Given the description of an element on the screen output the (x, y) to click on. 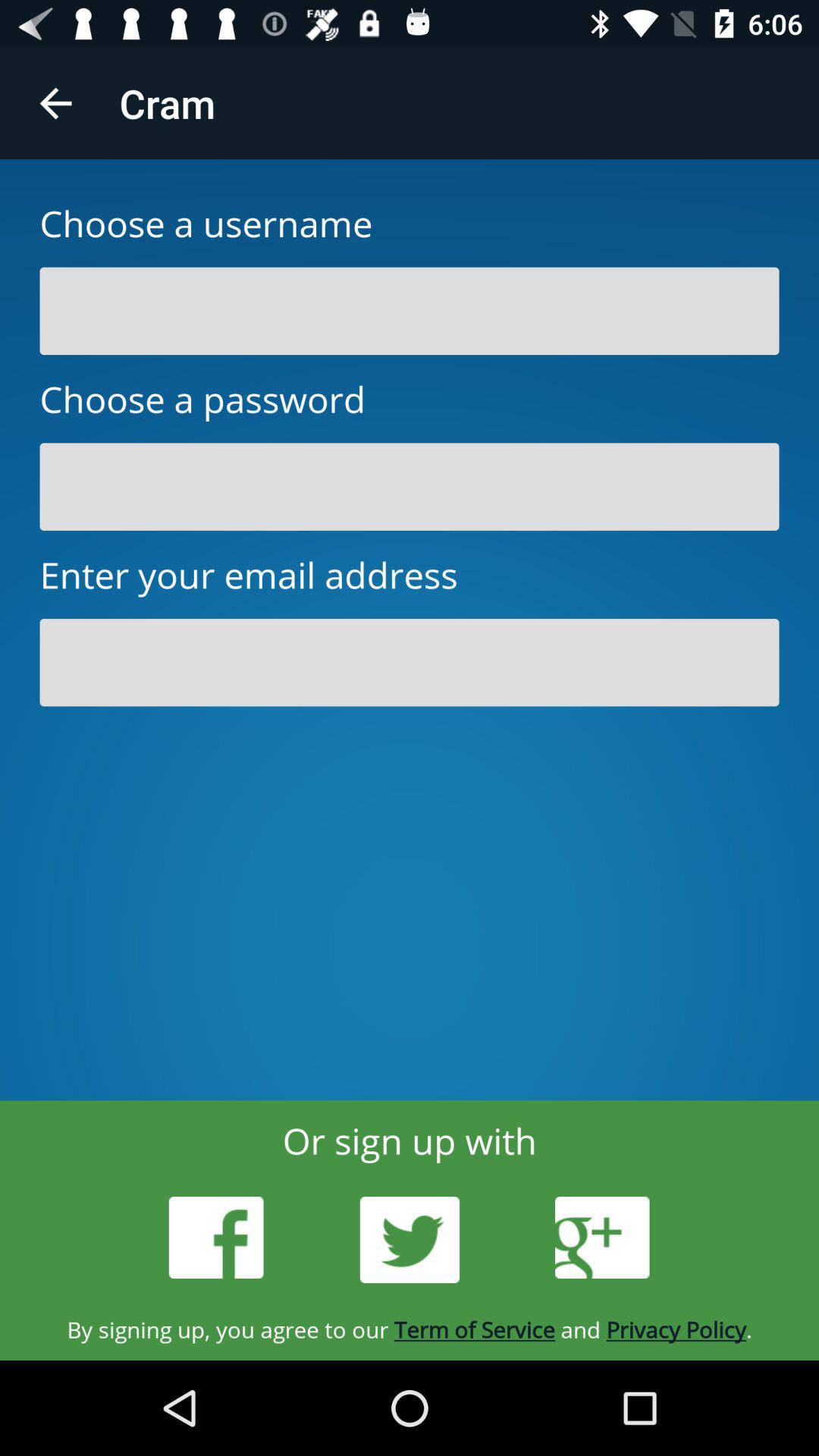
text box to enter email address (409, 662)
